Given the description of an element on the screen output the (x, y) to click on. 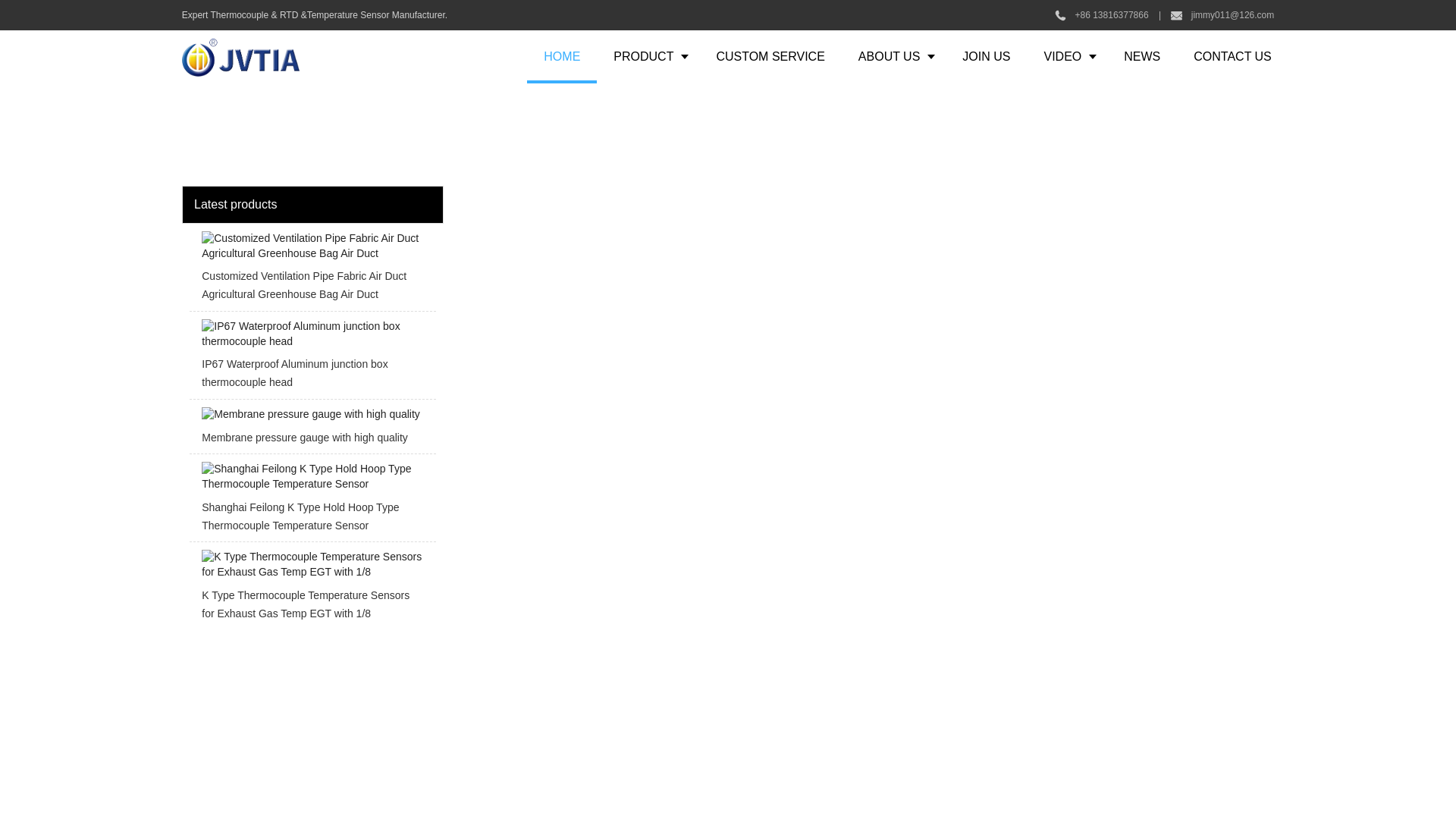
ABOUT US (893, 56)
NEWS (1141, 56)
PRODUCT (647, 56)
VIDEO (1066, 56)
CUSTOM SERVICE (769, 56)
JOIN US (985, 56)
HOME (561, 56)
